Given the description of an element on the screen output the (x, y) to click on. 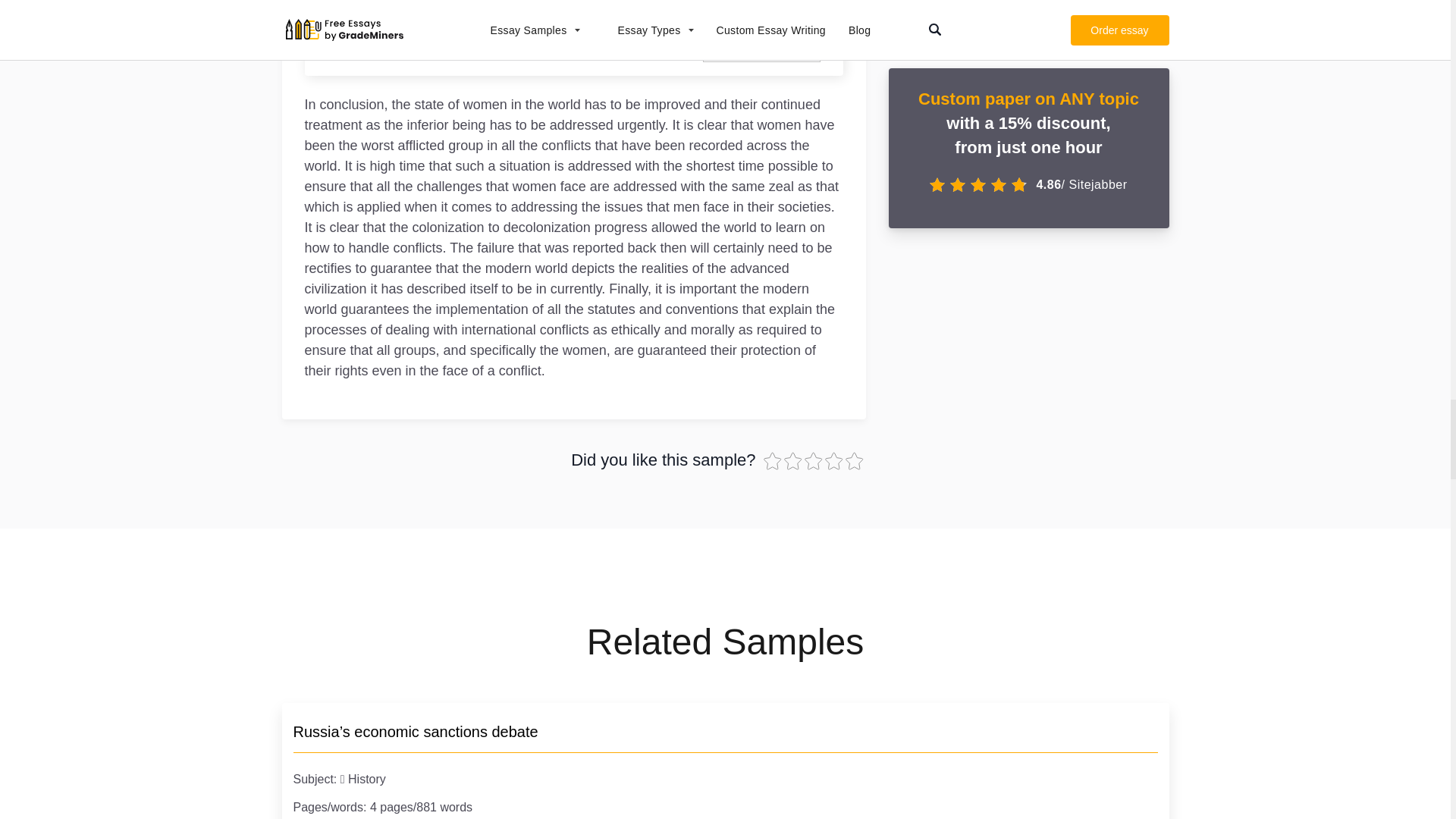
17 votes, average: 4,5 out of 5 (835, 461)
17 votes, average: 4,5 out of 5 (794, 461)
17 votes, average: 4,5 out of 5 (854, 461)
17 votes, average: 4,5 out of 5 (813, 461)
17 votes, average: 4,5 out of 5 (772, 461)
